Given the description of an element on the screen output the (x, y) to click on. 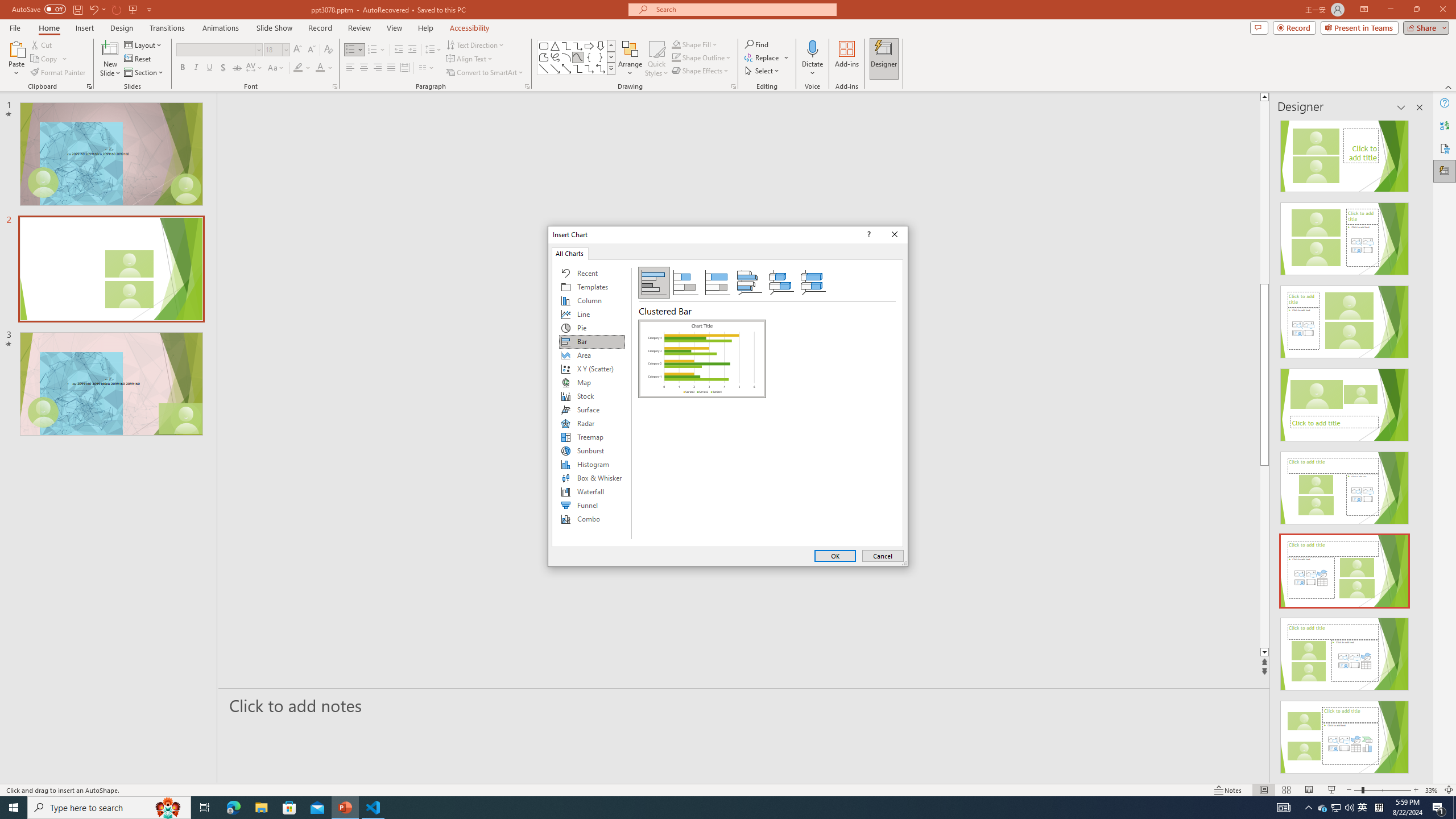
Shape Fill Dark Green, Accent 2 (675, 44)
3-D 100% Stacked Bar (813, 282)
Office Clipboard... (88, 85)
Bar (591, 341)
